Given the description of an element on the screen output the (x, y) to click on. 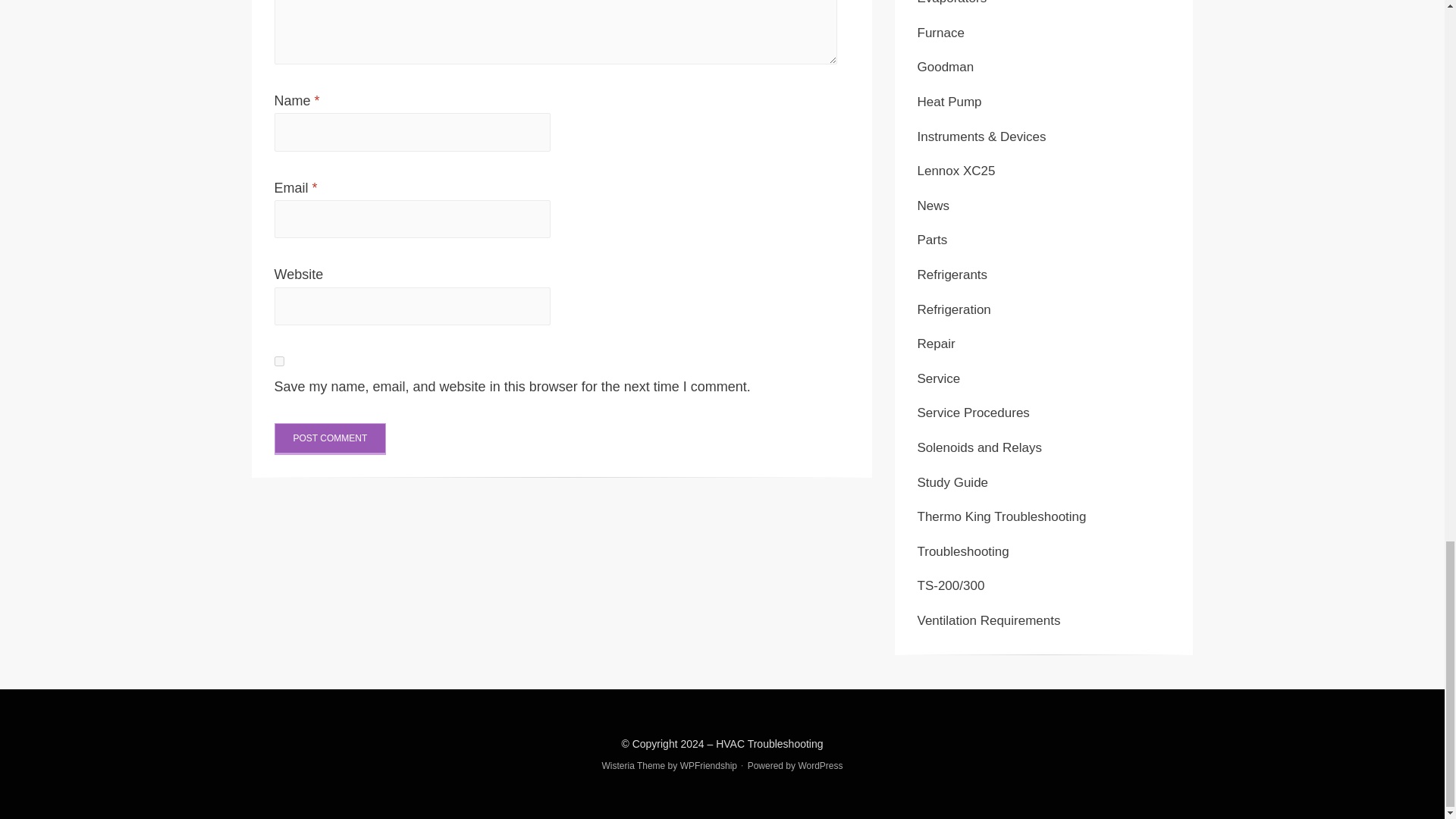
Heat Pump (949, 101)
Furnace (940, 32)
WordPress (820, 765)
WPFriendship (707, 765)
Post Comment (331, 439)
yes (279, 361)
Post Comment (331, 439)
Evaporators (952, 2)
Goodman (945, 66)
